Given the description of an element on the screen output the (x, y) to click on. 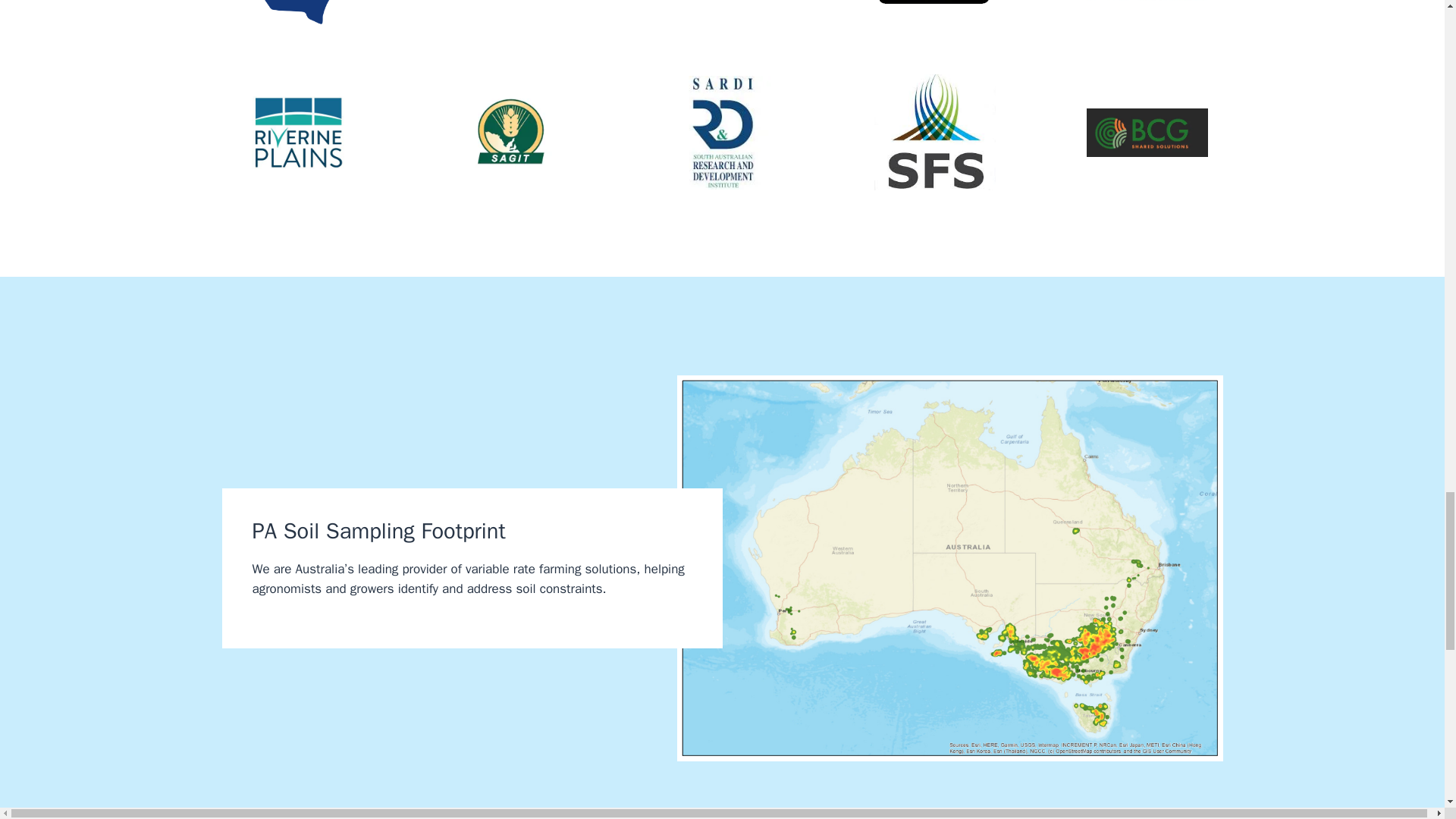
riverine-plains (296, 132)
SFS-Logo (933, 131)
BCG (1146, 132)
